Given the description of an element on the screen output the (x, y) to click on. 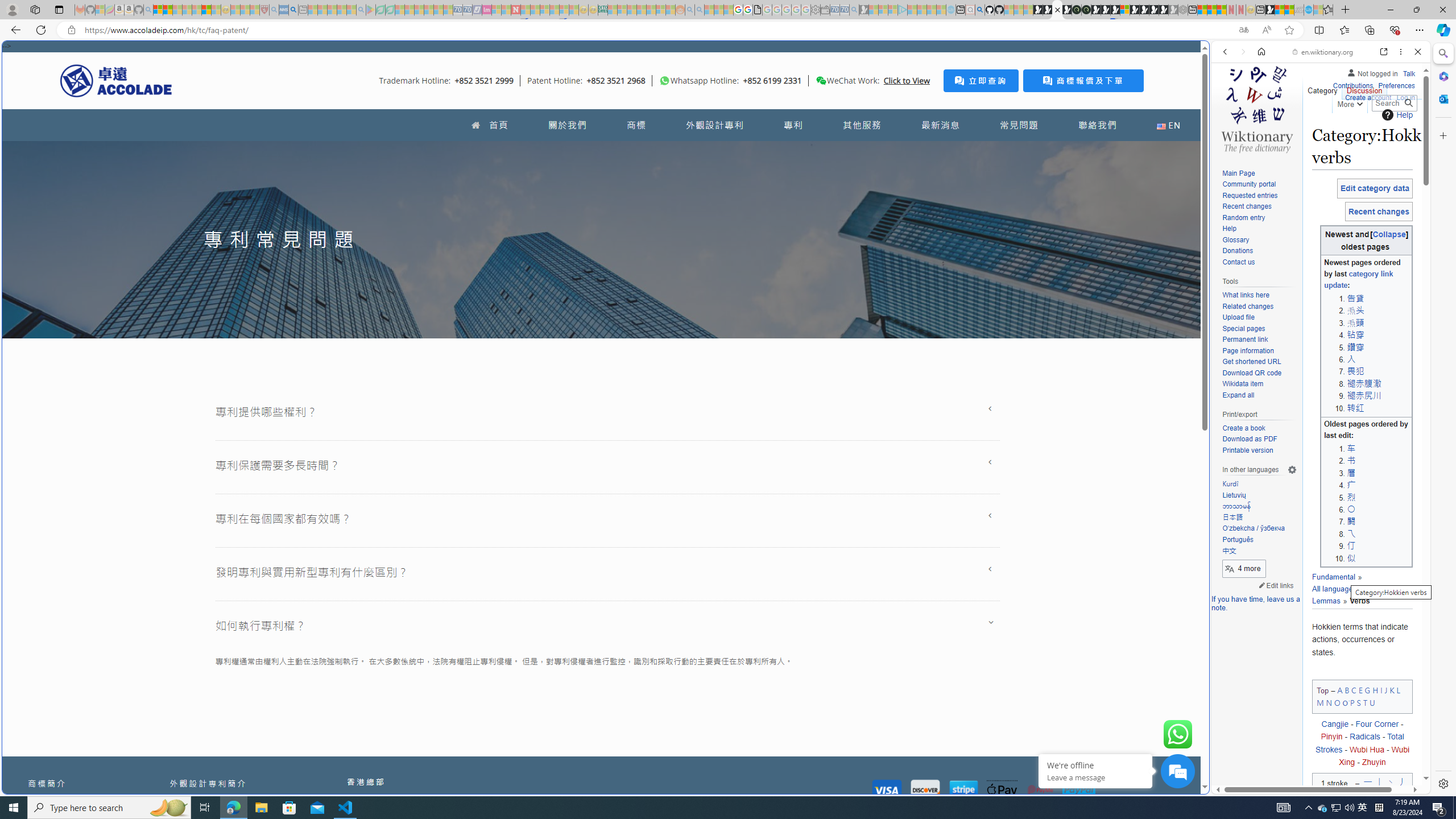
Discussion (1363, 87)
Random entry (1259, 218)
Recent changes (1246, 206)
I (1381, 689)
O (1336, 701)
